Given the description of an element on the screen output the (x, y) to click on. 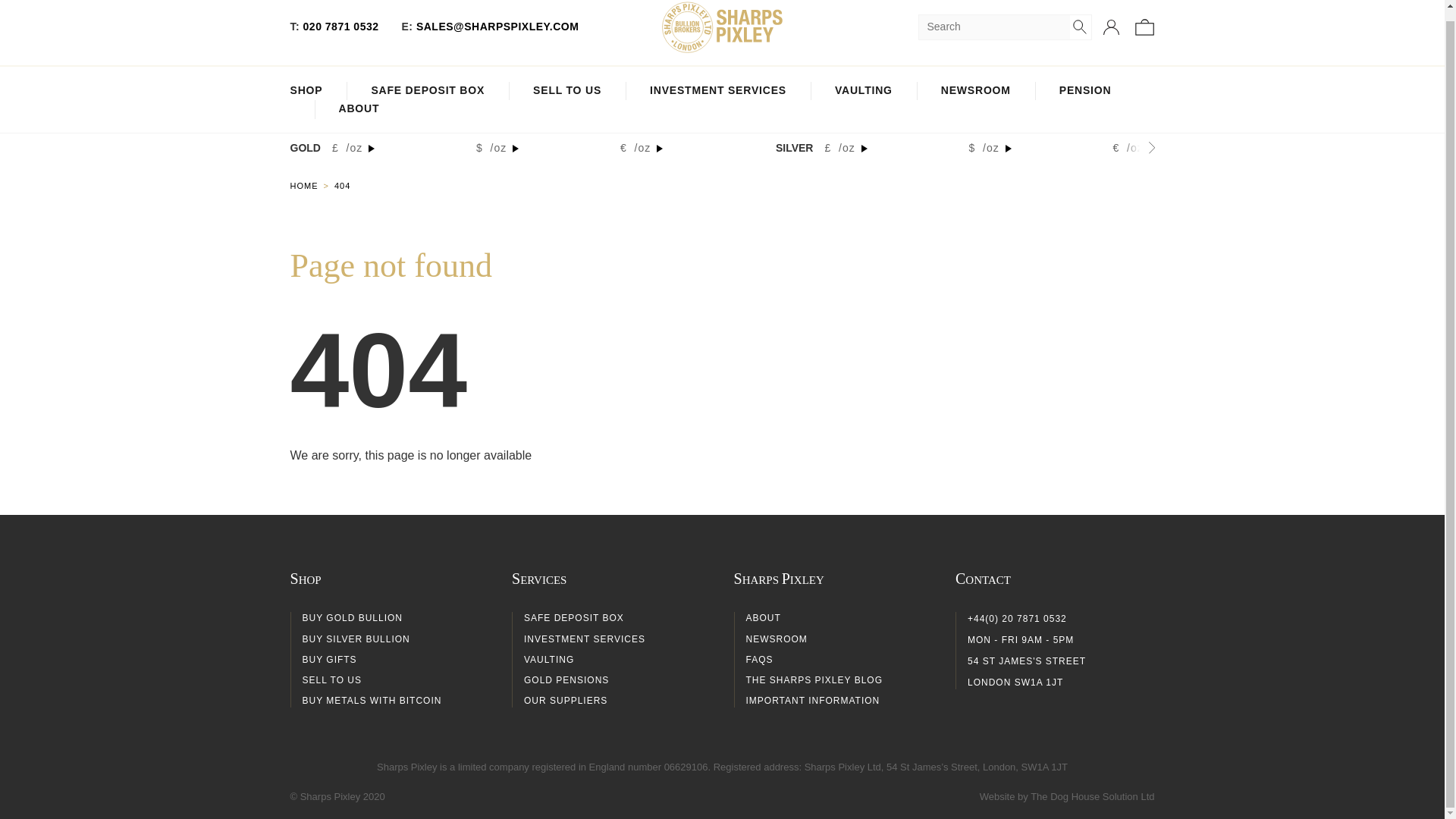
About (357, 109)
Buy gold oline (305, 90)
Vaulting (863, 90)
Sharps Pixley - Buy Gold online (722, 26)
Pension (1085, 90)
Sell to us (566, 90)
Investment Services (717, 90)
SHOP (305, 90)
Safe Deposit Boxes in London (427, 90)
Buy gold online (311, 185)
020 7871 0532 (340, 26)
Newsroom (975, 90)
